Given the description of an element on the screen output the (x, y) to click on. 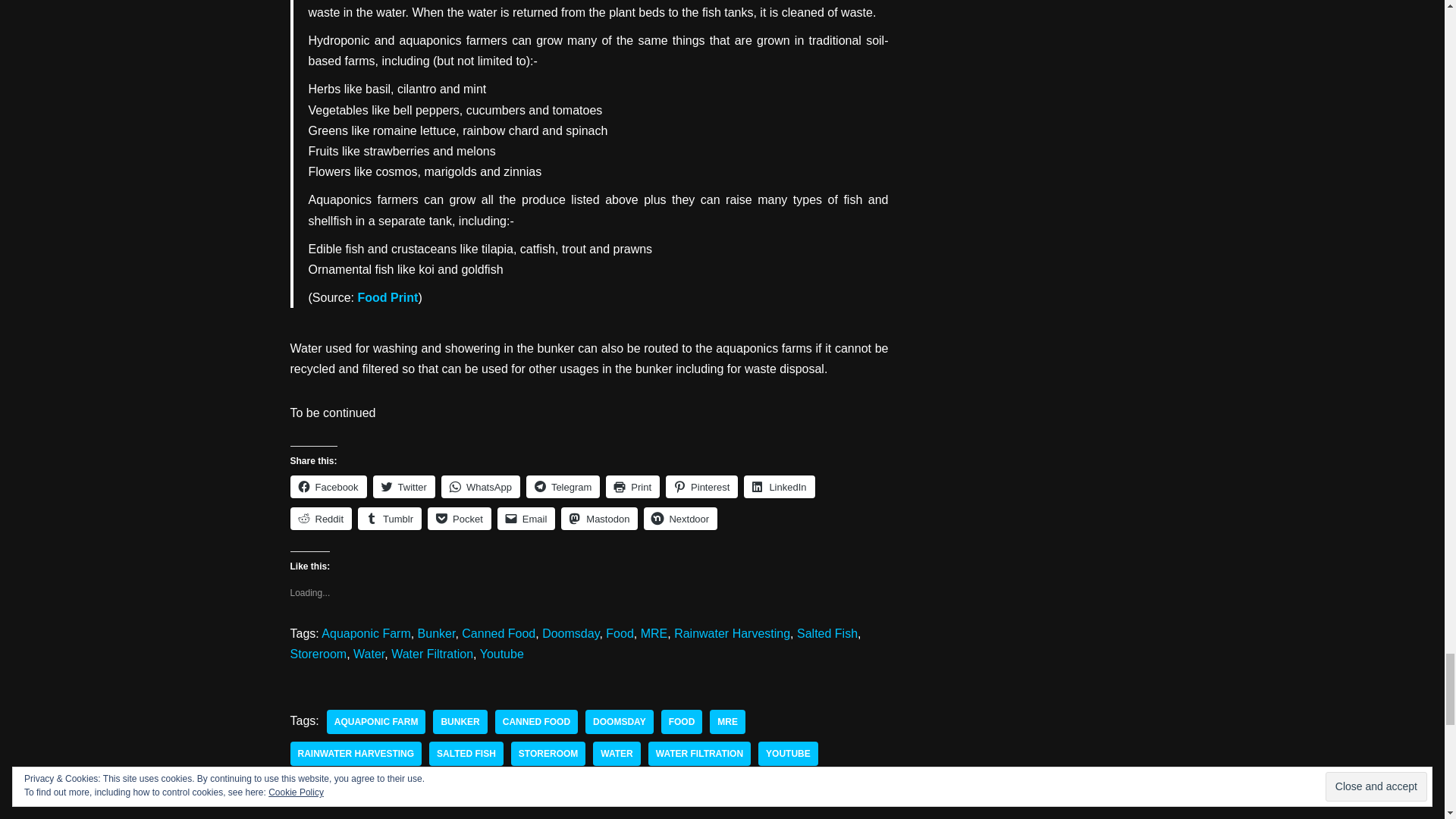
Click to share on Telegram (562, 486)
Click to share on WhatsApp (480, 486)
Click to share on Twitter (403, 486)
Click to share on Facebook (327, 486)
